Given the description of an element on the screen output the (x, y) to click on. 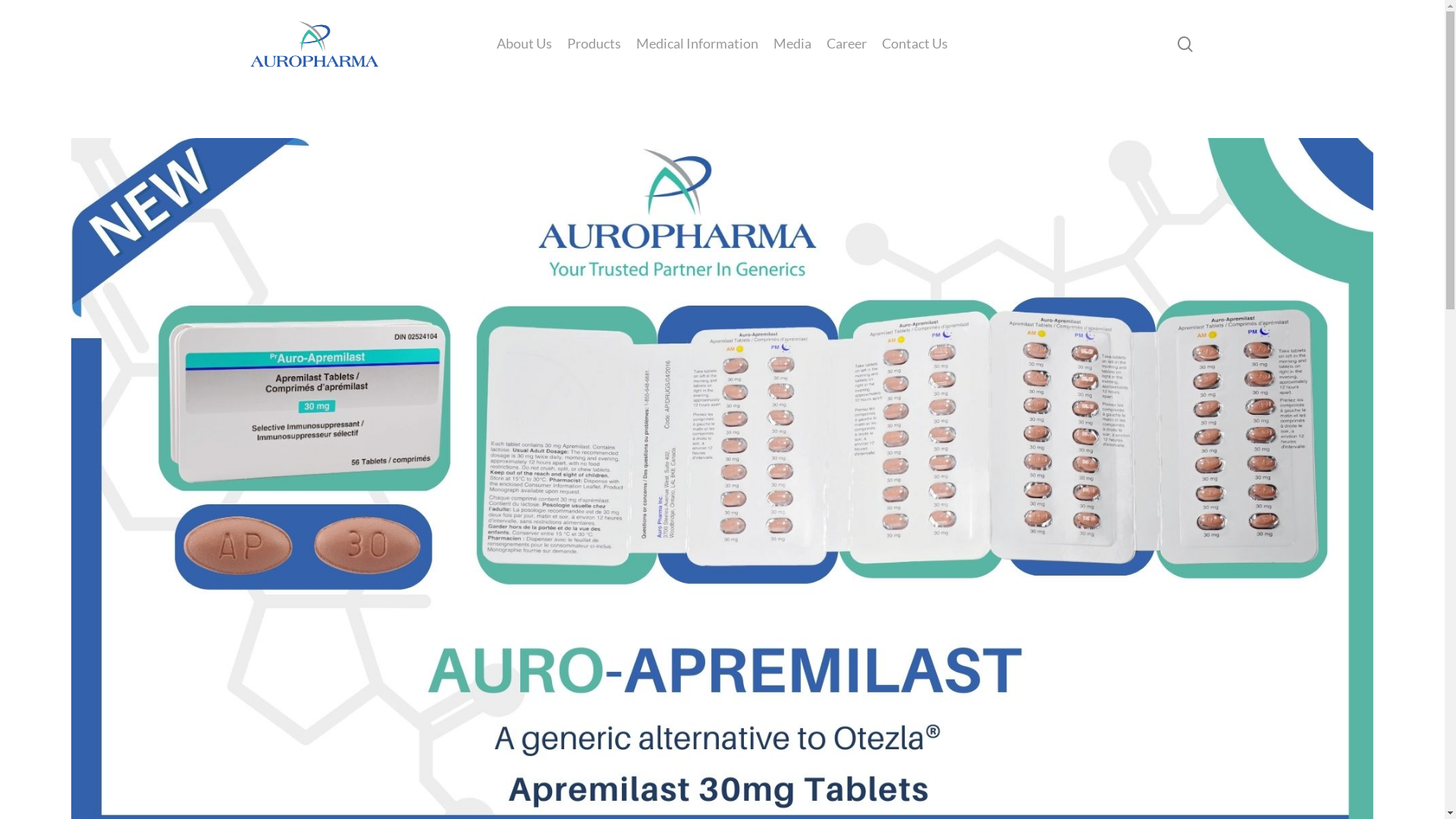
About Us Element type: text (524, 43)
Media Element type: text (792, 43)
Contact Us Element type: text (914, 43)
search Element type: text (1185, 44)
Products Element type: text (594, 43)
Career Element type: text (846, 43)
Medical Information Element type: text (697, 43)
